Given the description of an element on the screen output the (x, y) to click on. 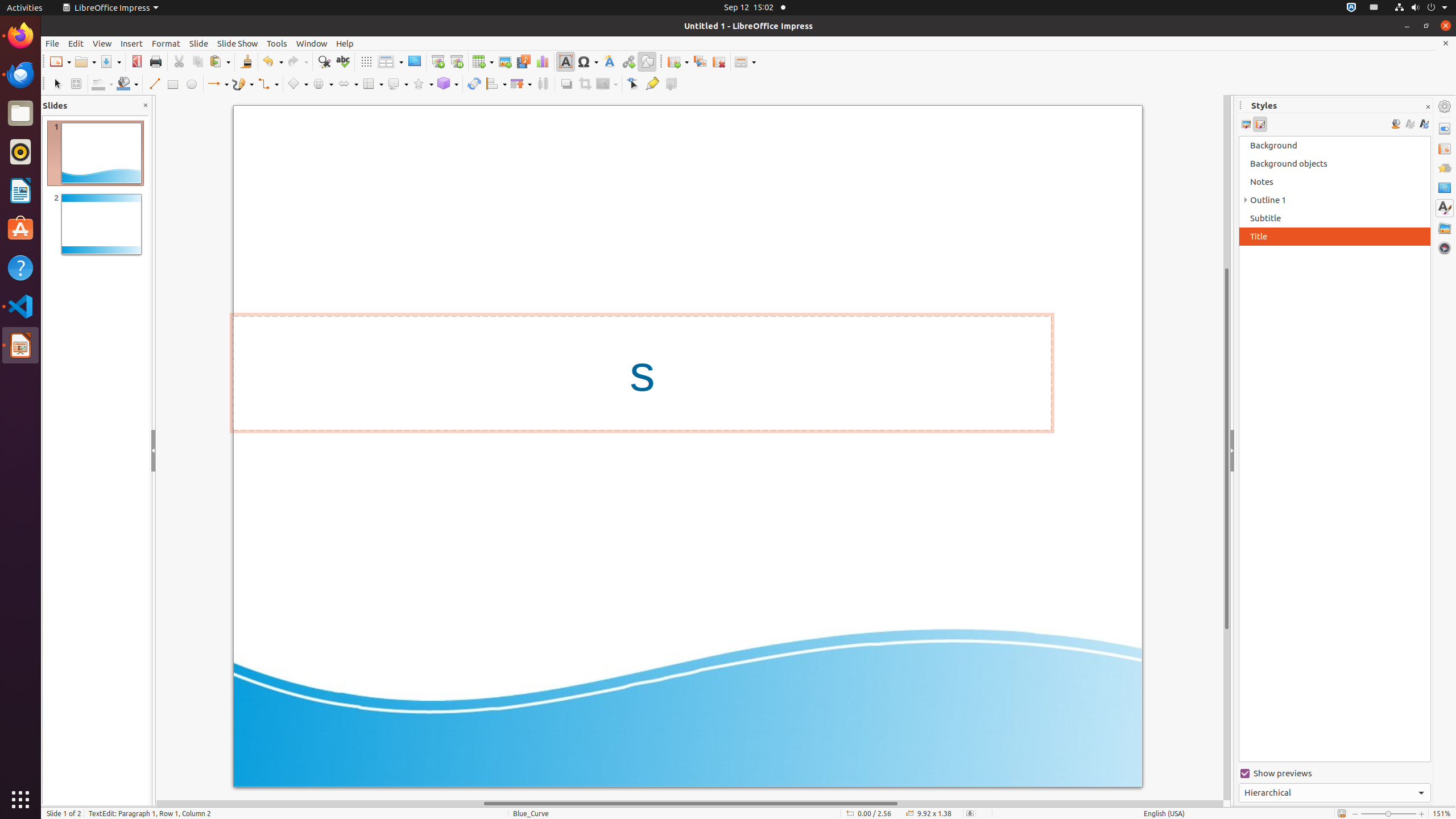
Open Element type: push-button (84, 61)
Animation Element type: radio-button (1444, 168)
Shadow Element type: toggle-button (565, 83)
